Given the description of an element on the screen output the (x, y) to click on. 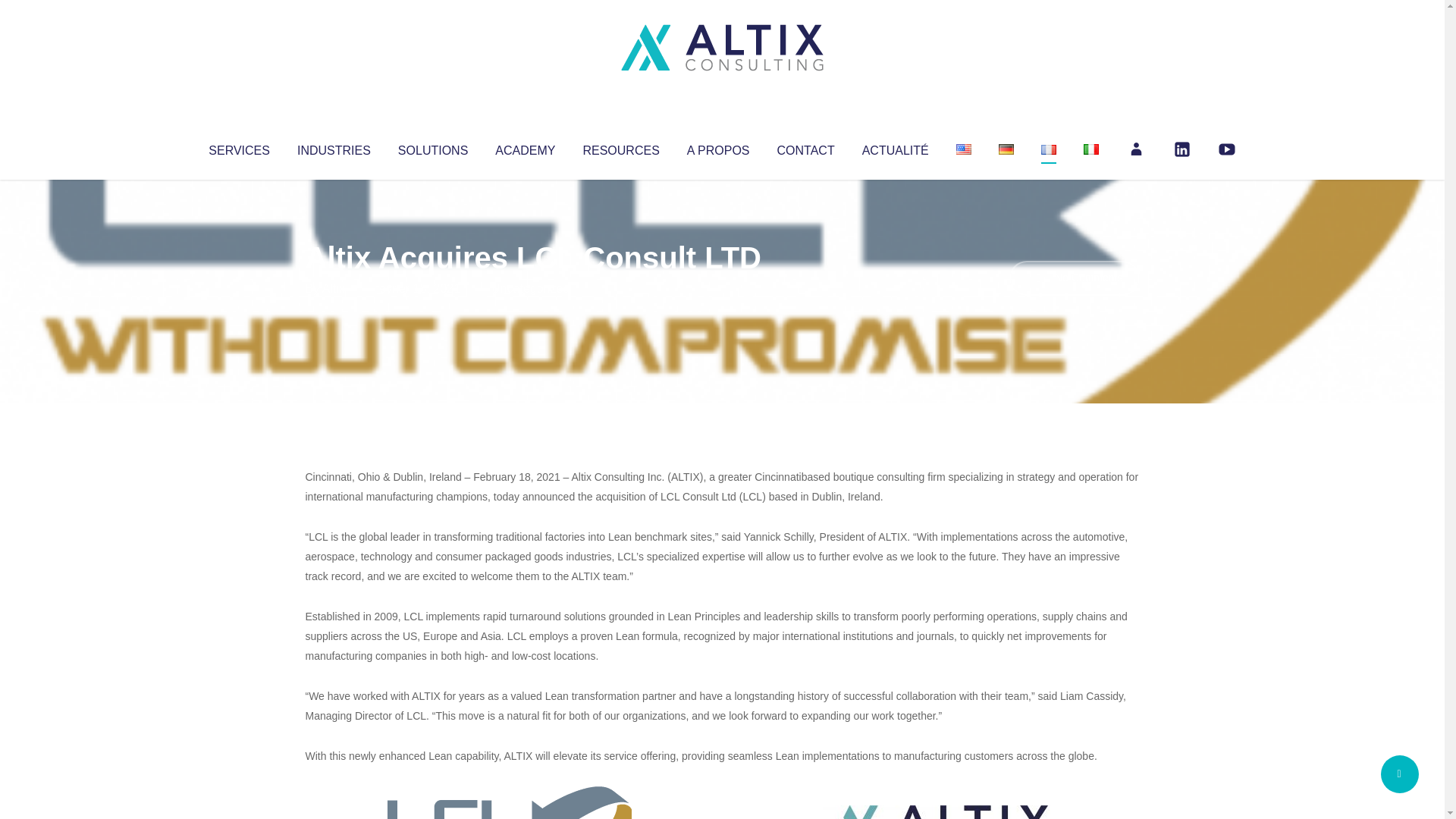
Altix (333, 287)
A PROPOS (718, 146)
SERVICES (238, 146)
No Comments (1073, 278)
Articles par Altix (333, 287)
INDUSTRIES (334, 146)
SOLUTIONS (432, 146)
Uncategorized (530, 287)
ACADEMY (524, 146)
RESOURCES (620, 146)
